Given the description of an element on the screen output the (x, y) to click on. 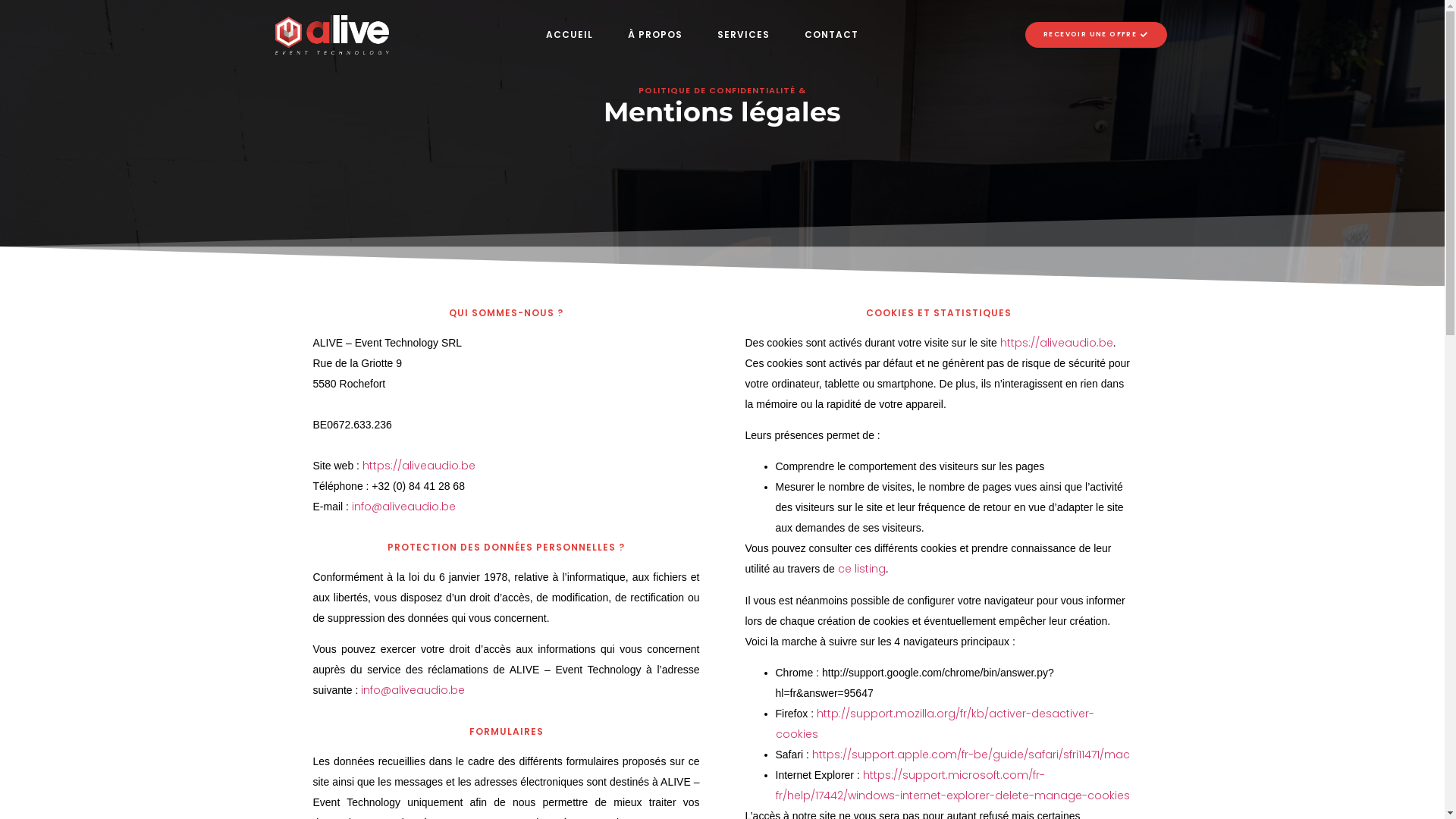
.be Element type: text (447, 506)
https://aliveaudio.be Element type: text (418, 465)
SERVICES Element type: text (743, 34)
CONTACT Element type: text (831, 34)
.be Element type: text (1104, 342)
http://support.mozilla.org/fr/kb/activer-desactiver-cookies Element type: text (934, 723)
https://aliveaudio Element type: text (1048, 342)
info@aliveaudio.be Element type: text (412, 689)
info@aliveaudio Element type: text (395, 506)
https://support.apple.com/fr-be/guide/safari/sfri11471/mac Element type: text (970, 754)
ce listing Element type: text (861, 568)
RECEVOIR UNE OFFRE Element type: text (1096, 34)
ACCUEIL Element type: text (569, 34)
